Given the description of an element on the screen output the (x, y) to click on. 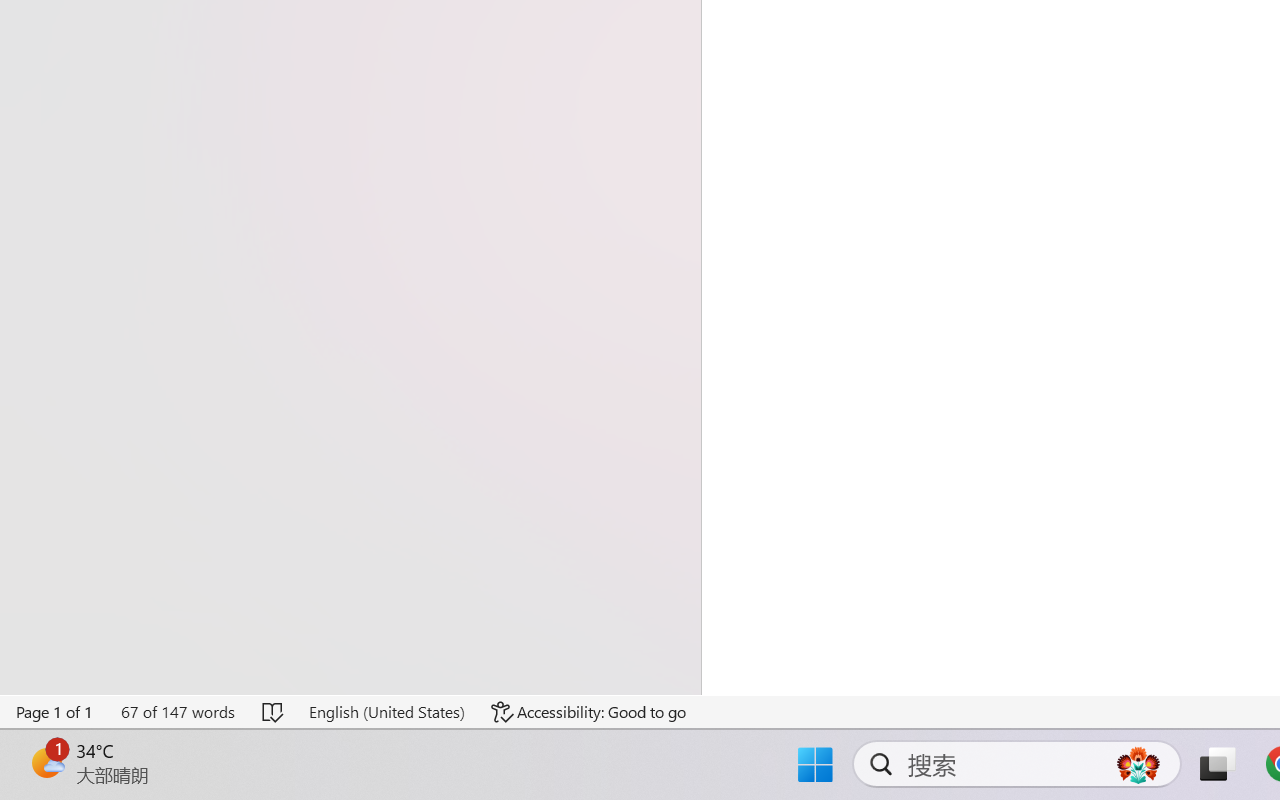
Page Number Page 1 of 1 (55, 712)
